Given the description of an element on the screen output the (x, y) to click on. 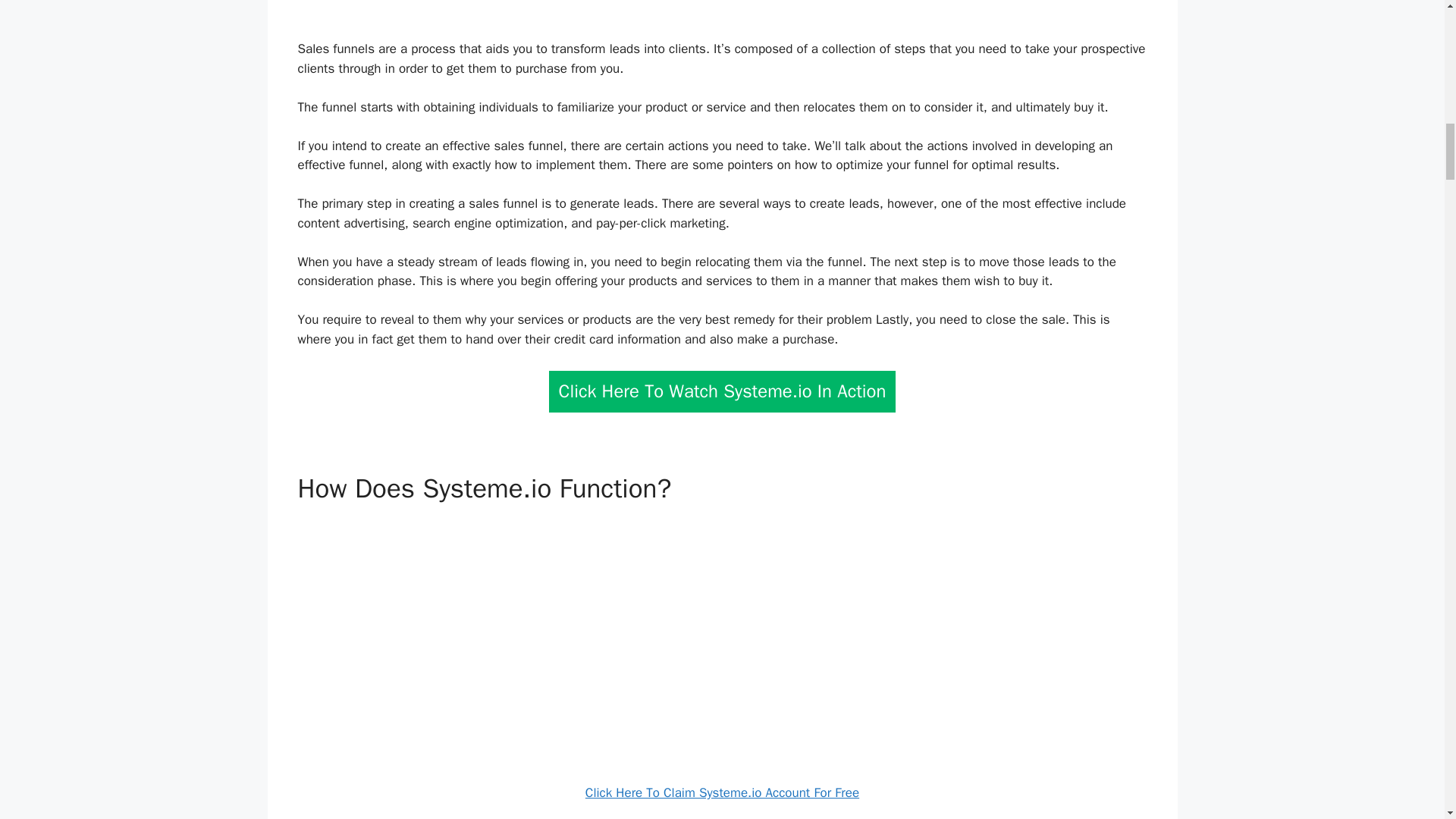
Click Here To Claim Systeme.io Account For Free (722, 792)
YouTube video player (721, 638)
Click Here To Watch Systeme.io In Action (722, 391)
